Given the description of an element on the screen output the (x, y) to click on. 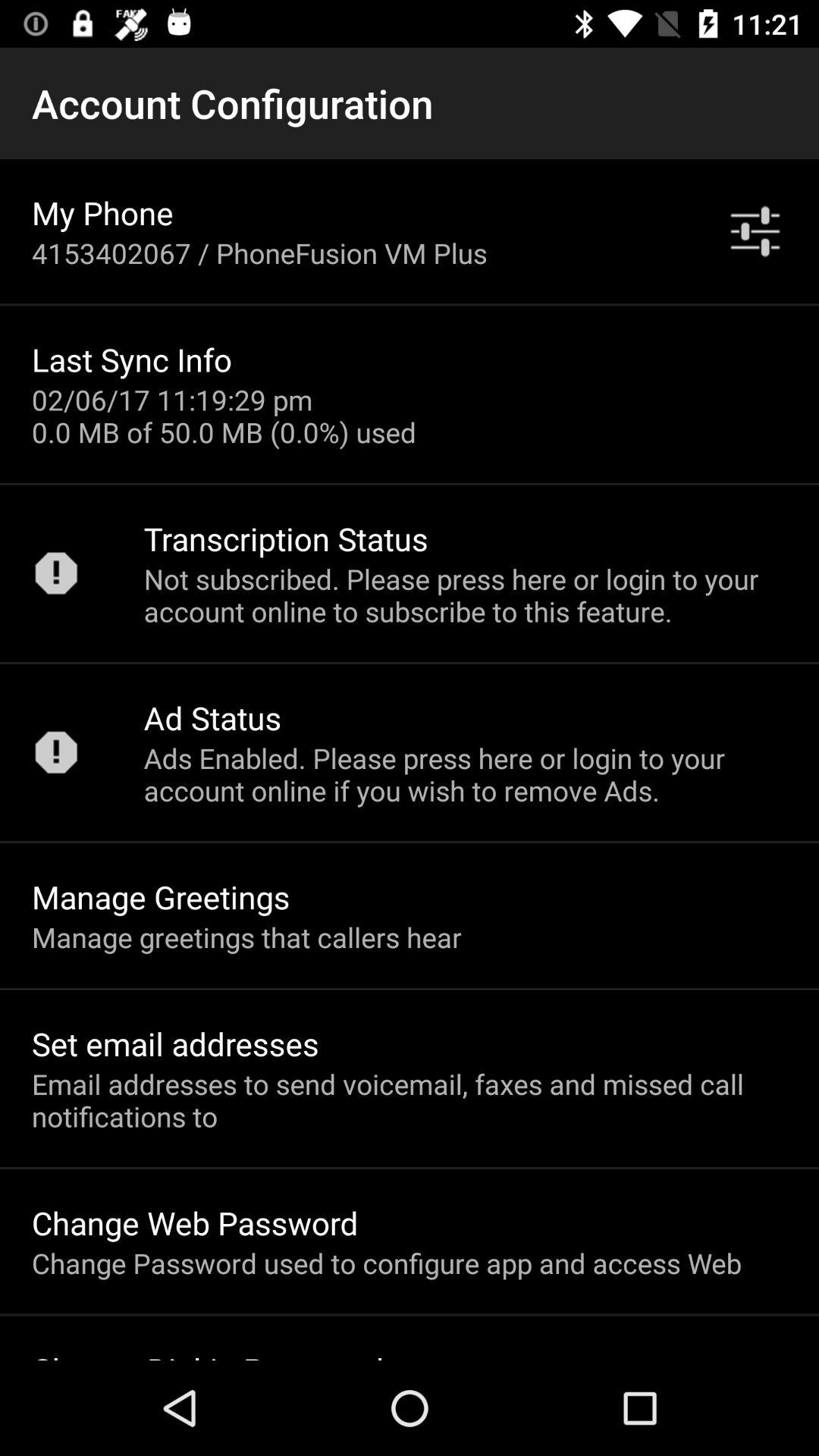
open the change dial in (207, 1353)
